Given the description of an element on the screen output the (x, y) to click on. 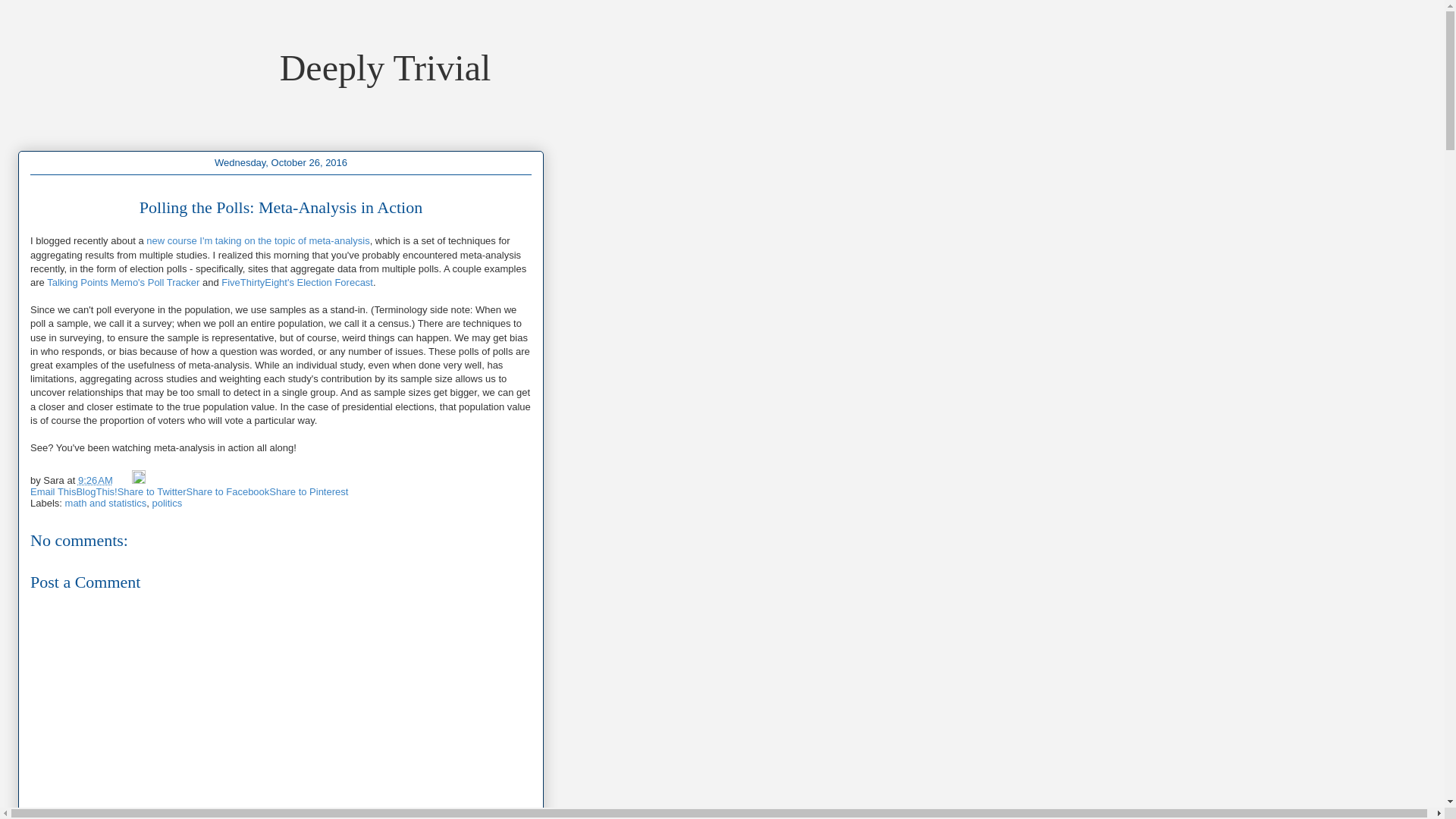
Share to Pinterest (308, 491)
BlogThis! (95, 491)
Share to Twitter (151, 491)
Share to Twitter (151, 491)
math and statistics (106, 502)
Email This (52, 491)
Deeply Trivial (385, 67)
Email Post (123, 480)
Share to Facebook (227, 491)
Email This (52, 491)
permanent link (95, 480)
FiveThirtyEight's Election Forecast (296, 282)
BlogThis! (95, 491)
Share to Facebook (227, 491)
